Given the description of an element on the screen output the (x, y) to click on. 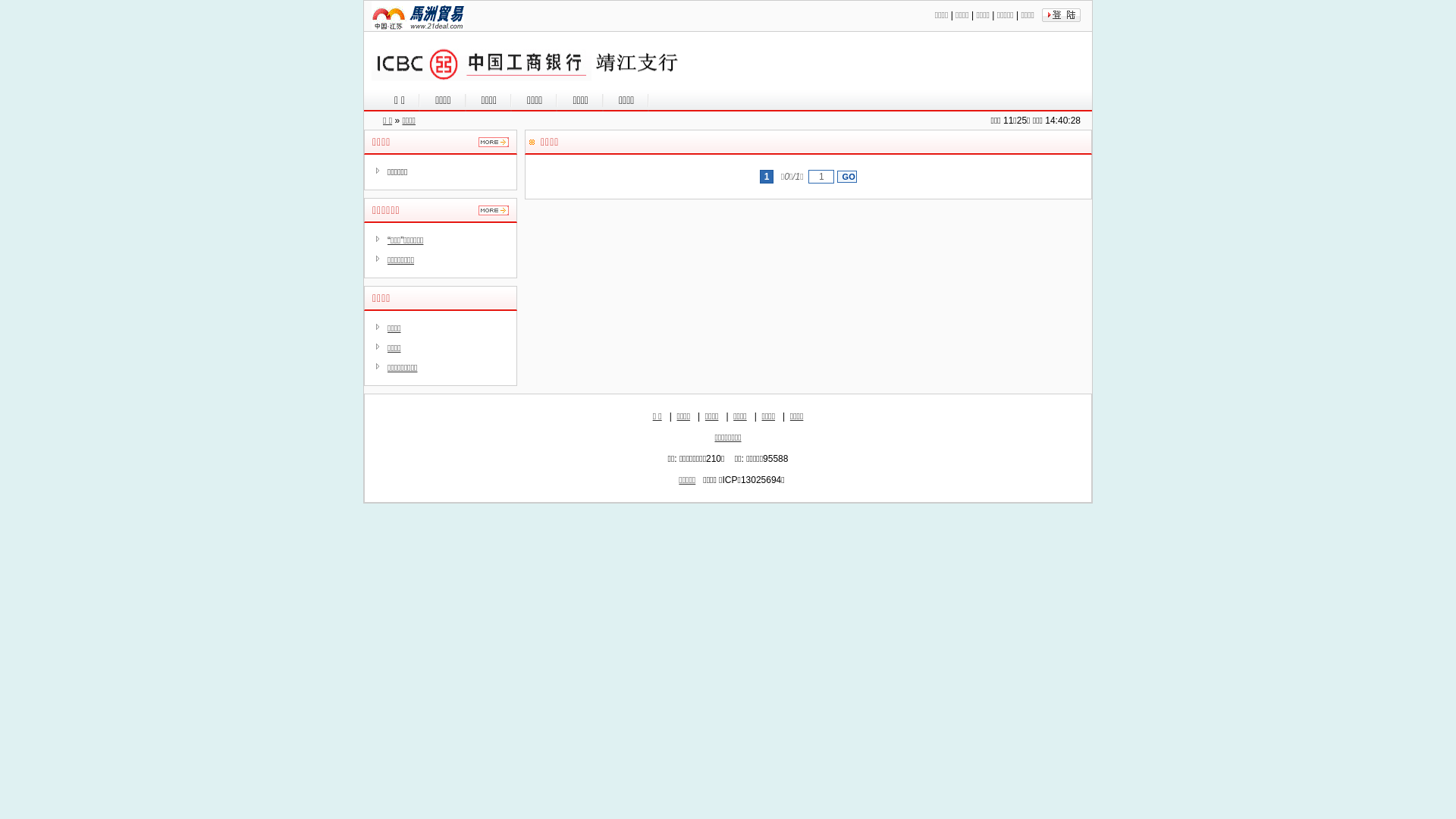
GO Element type: text (846, 176)
